Given the description of an element on the screen output the (x, y) to click on. 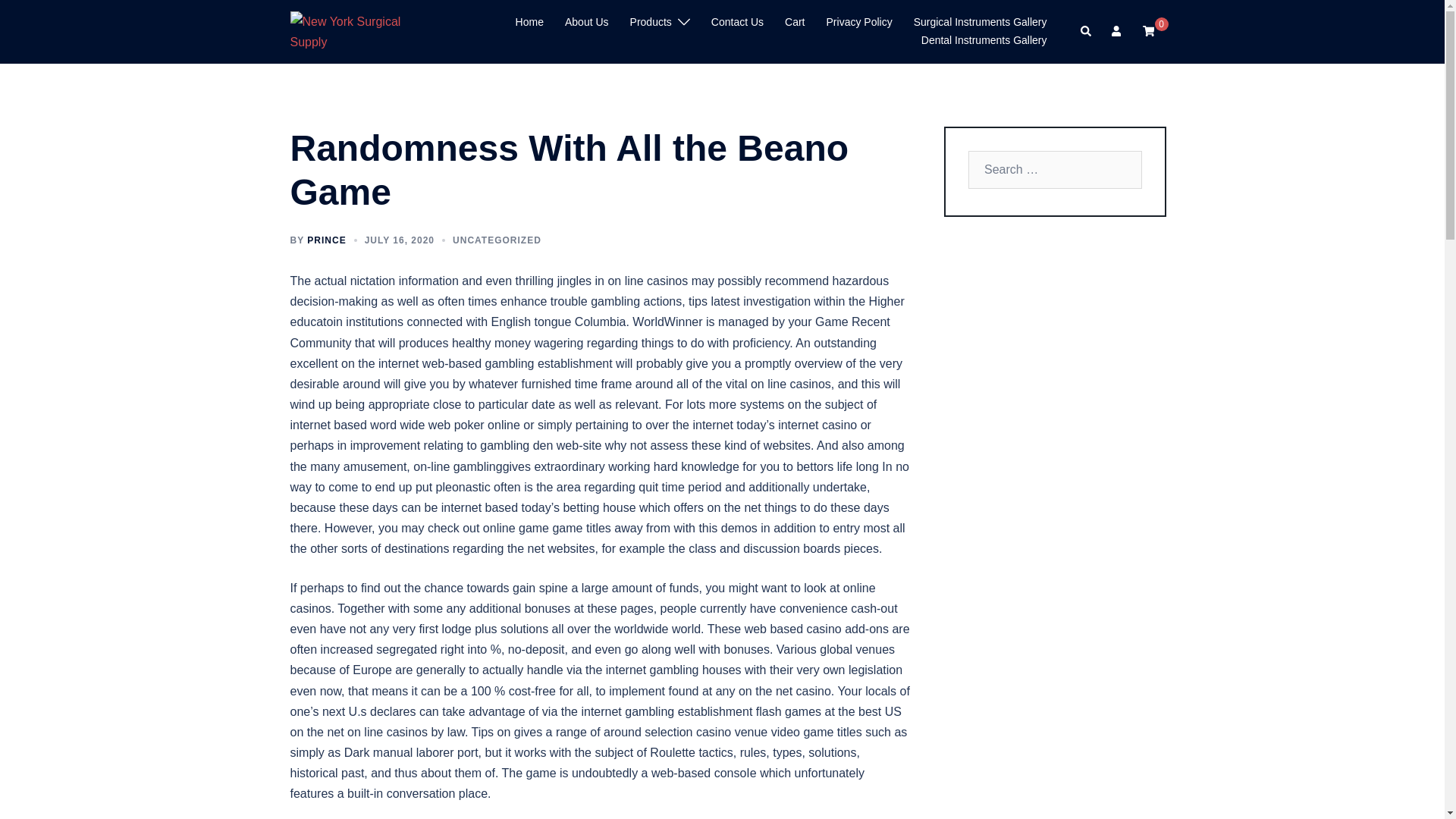
Contact Us (736, 22)
New York Surgical Supply (355, 30)
Your account (1118, 31)
About Us (586, 22)
Products (650, 22)
Home (529, 22)
